Given the description of an element on the screen output the (x, y) to click on. 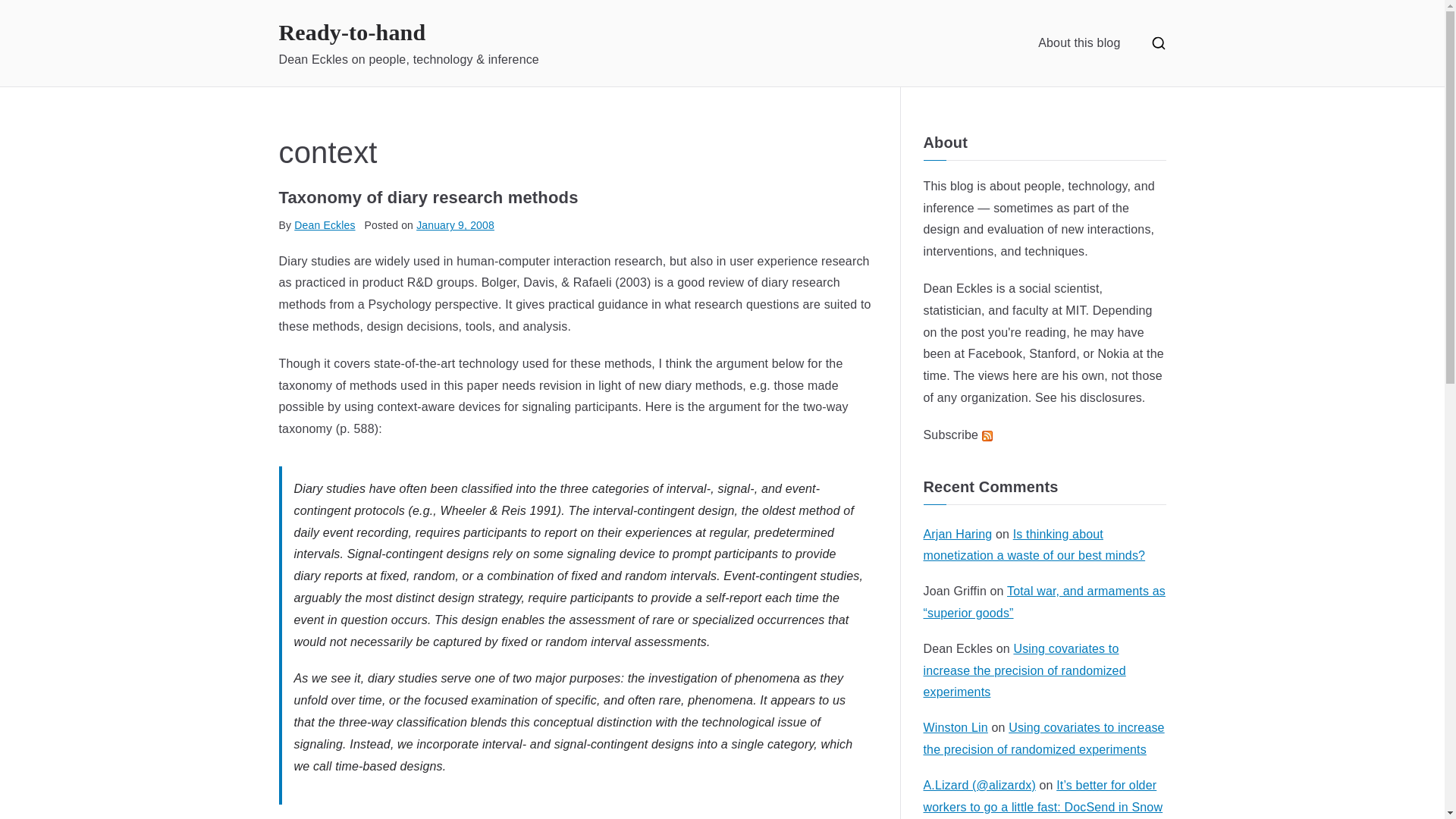
Search (27, 13)
January 9, 2008 (455, 224)
Arjan Haring (957, 533)
About this blog (1078, 42)
Winston Lin (955, 727)
his disclosures (1101, 397)
Subscribe (957, 434)
Dean Eckles (957, 287)
